Given the description of an element on the screen output the (x, y) to click on. 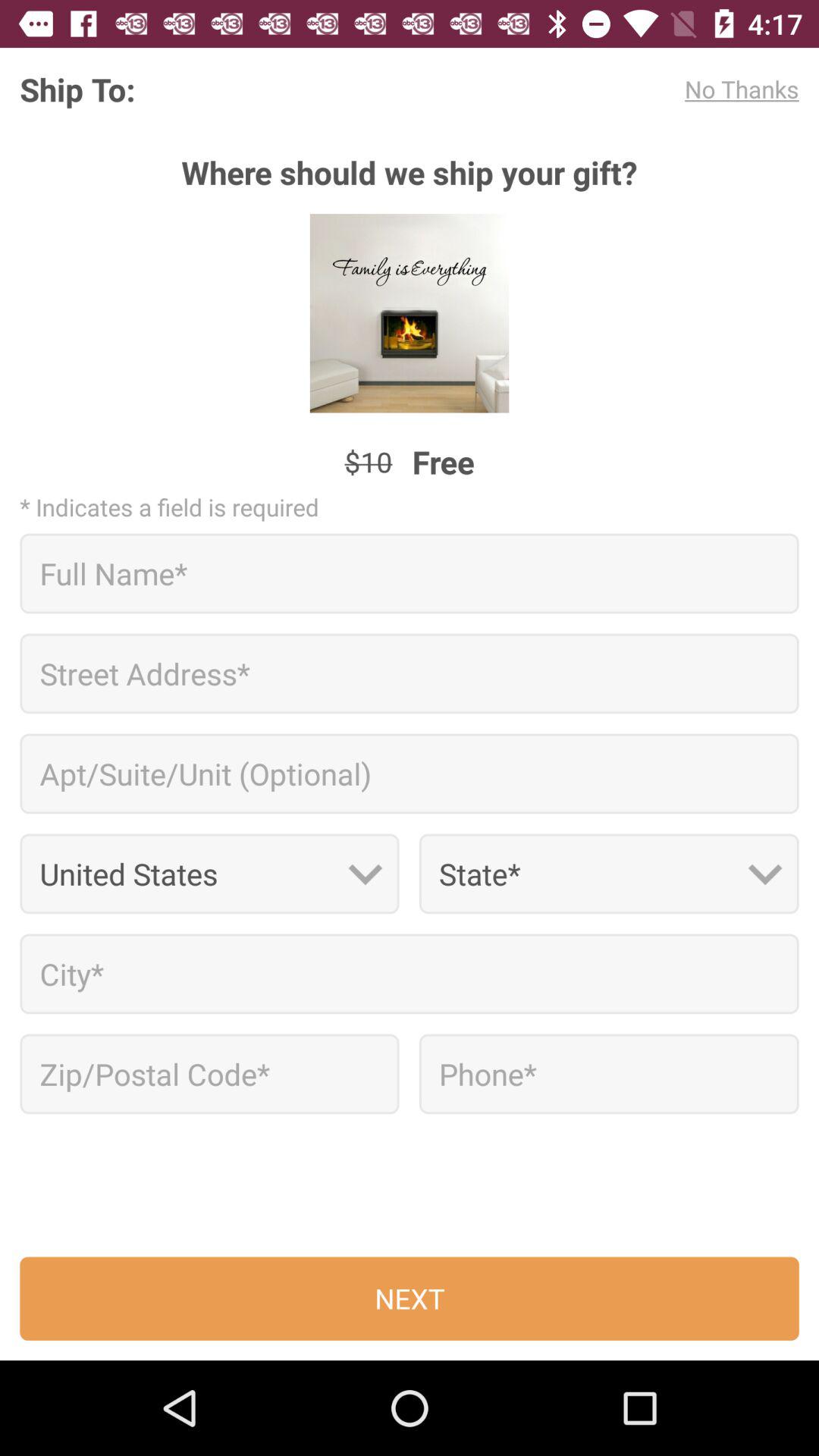
enter st address (409, 673)
